Given the description of an element on the screen output the (x, y) to click on. 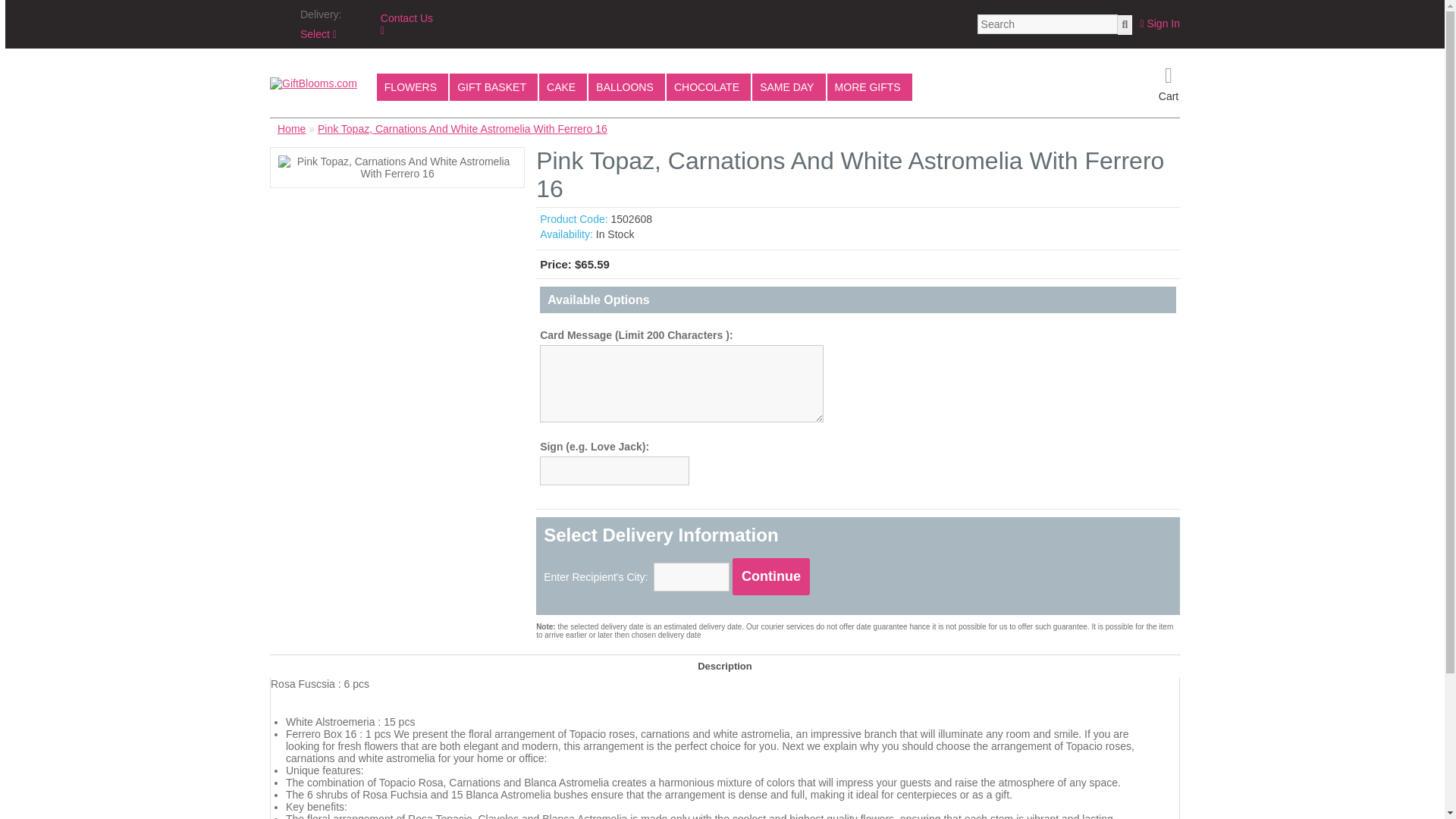
GIFT BASKET (493, 85)
Sign In (1159, 23)
FLOWERS (412, 85)
Contact Us (406, 24)
Select (317, 33)
GiftBlooms.com (312, 82)
